Given the description of an element on the screen output the (x, y) to click on. 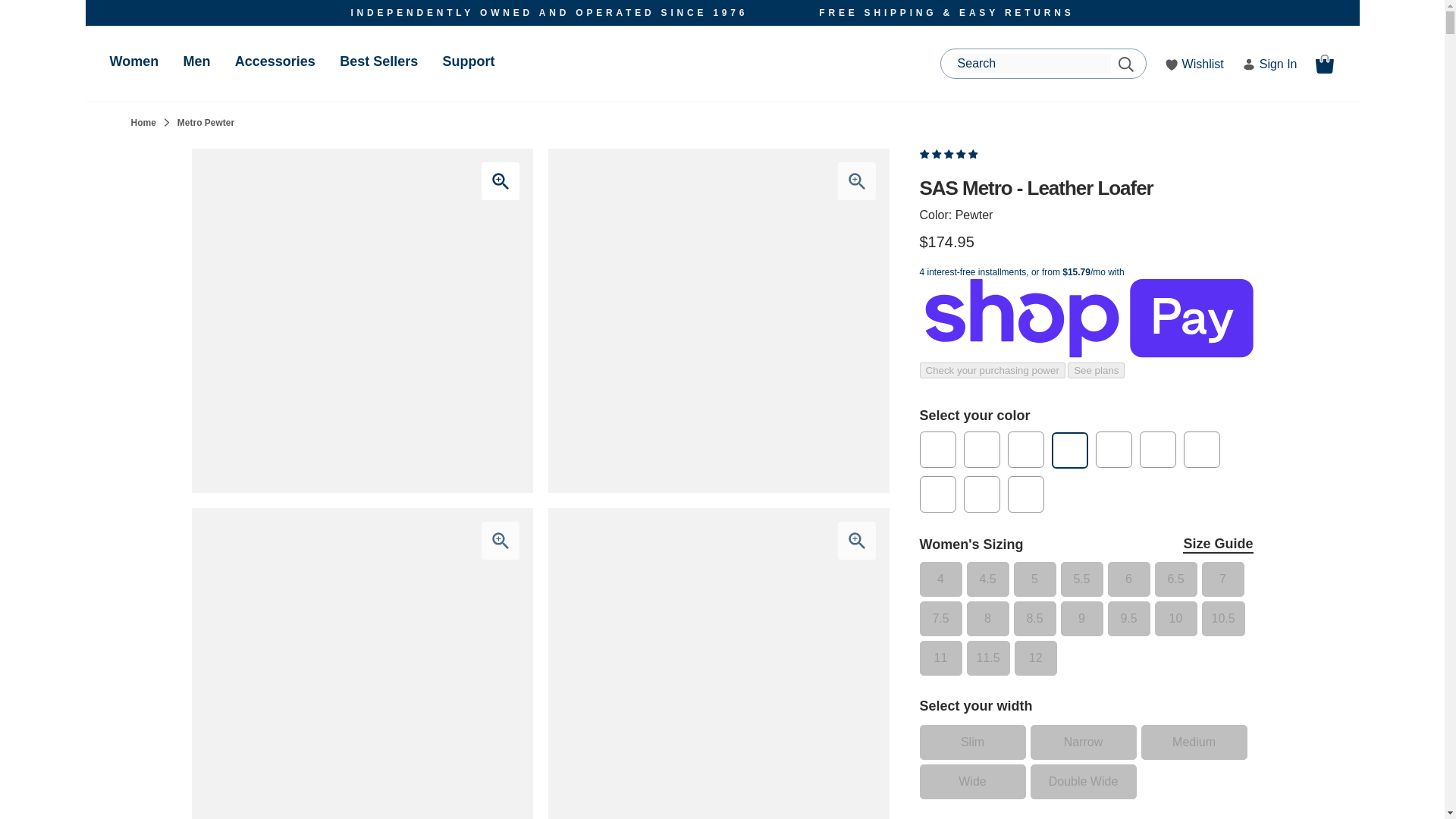
Accessories (274, 61)
Search (1126, 64)
Women (133, 61)
Men (195, 61)
